Given the description of an element on the screen output the (x, y) to click on. 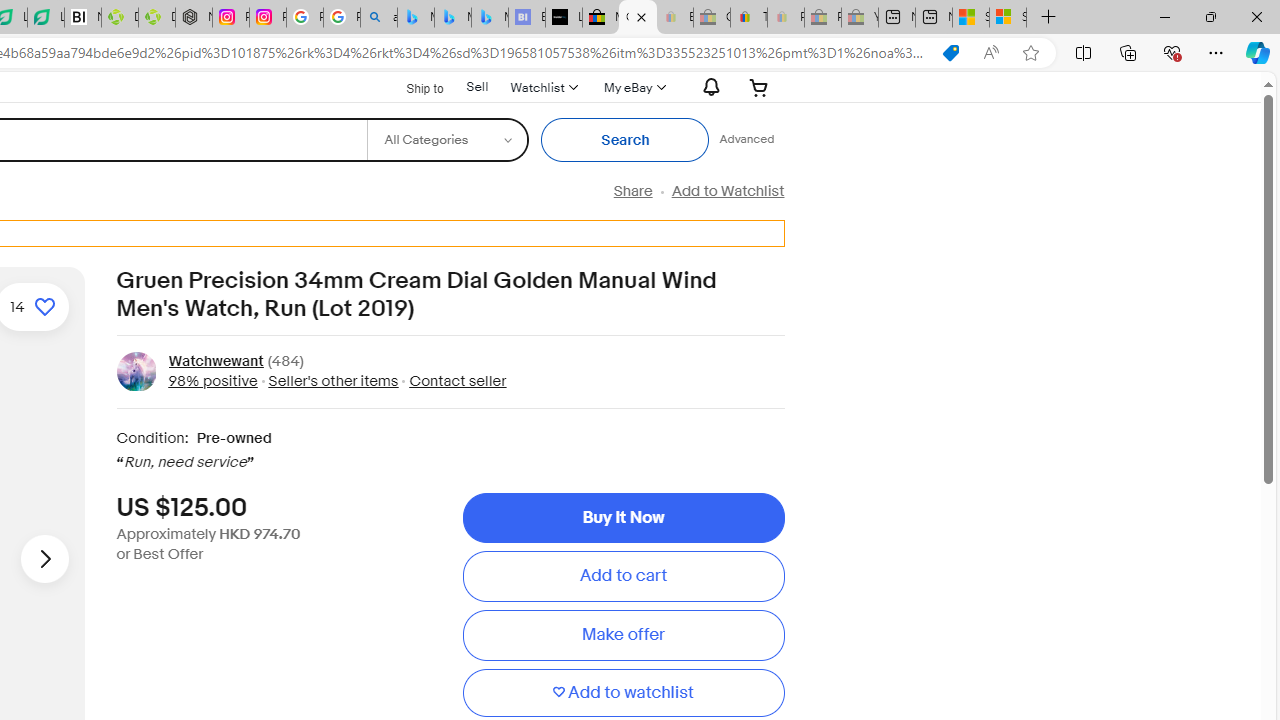
Ship to (412, 88)
My eBay (632, 87)
Add to Watchlist (727, 191)
Ship to (412, 85)
Next image - Item images thumbnails (44, 558)
Nordace - Nordace Edin Collection (193, 17)
Select a category for search (447, 139)
alabama high school quarterback dies - Search (378, 17)
Microsoft Bing Travel - Flights from Hong Kong to Bangkok (415, 17)
Add to watchlist (623, 692)
